Given the description of an element on the screen output the (x, y) to click on. 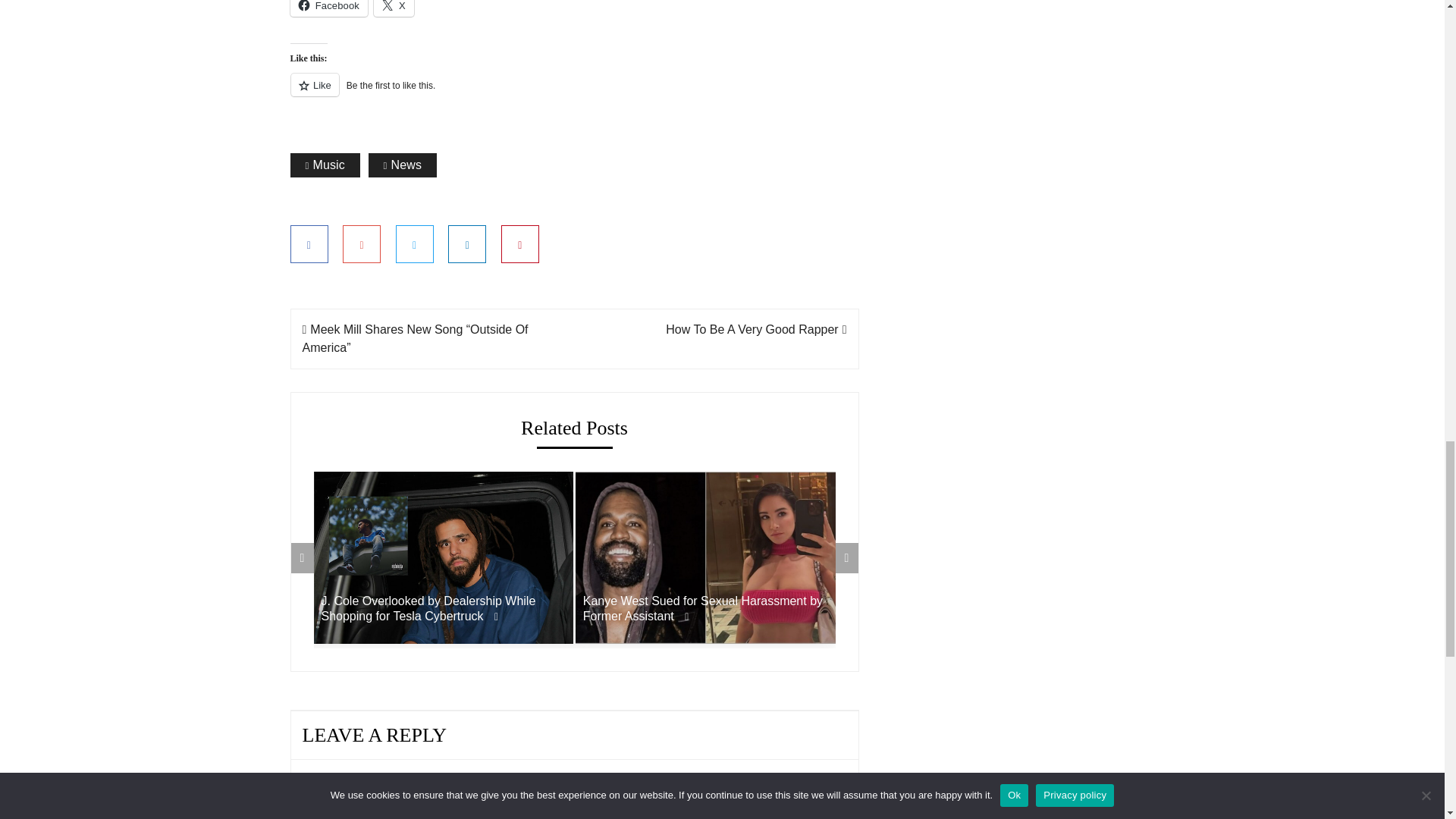
Click to share on X (393, 8)
How To Be A Very Good Rapper (755, 328)
Facebook (327, 8)
Music (324, 165)
News (403, 165)
Click to share on Facebook (327, 8)
Like or Reblog (574, 93)
X (393, 8)
